Given the description of an element on the screen output the (x, y) to click on. 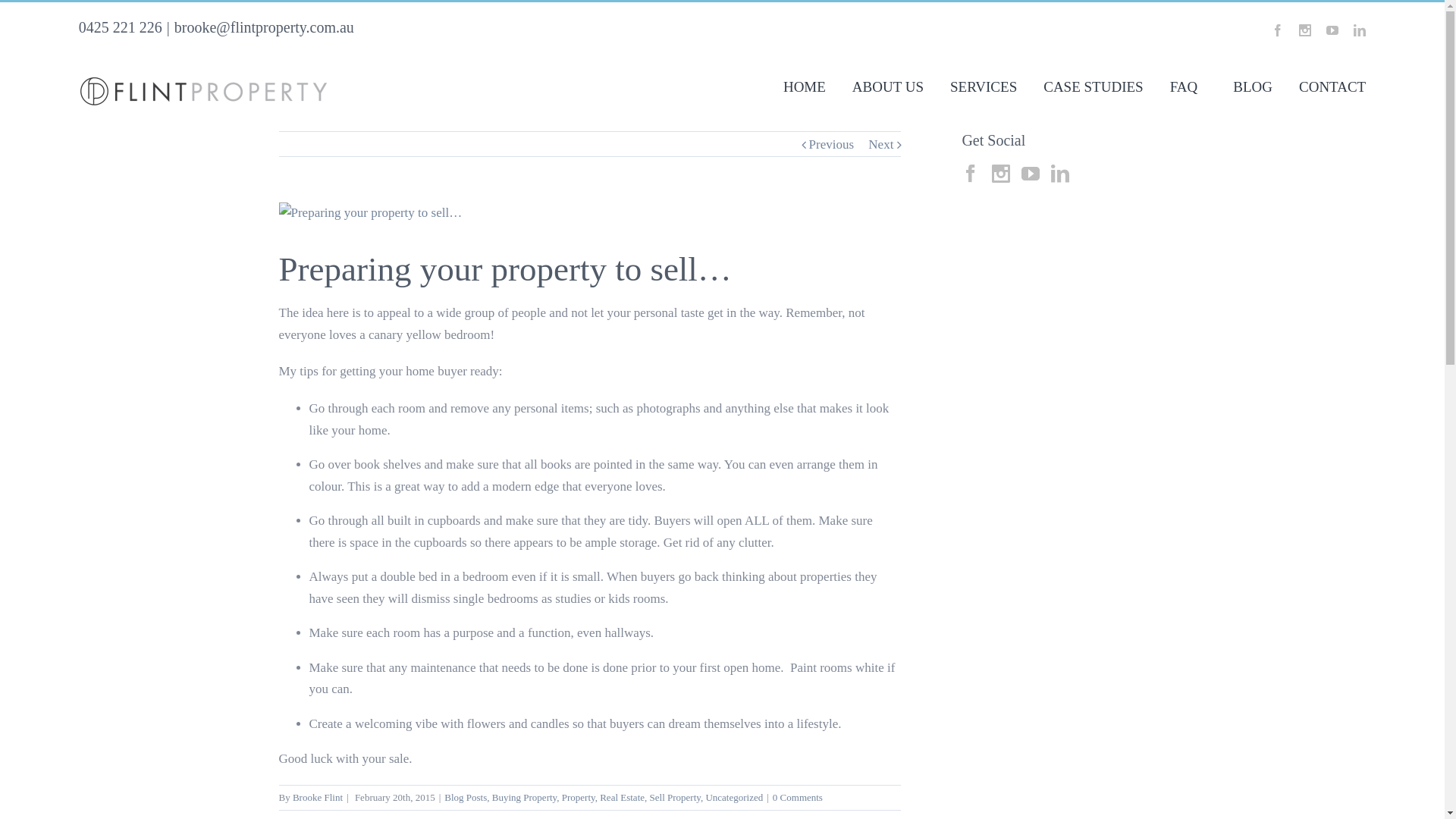
SERVICES Element type: text (983, 85)
brooke@flintproperty.com.au Element type: text (264, 26)
CONTACT Element type: text (1332, 85)
Blog Posts Element type: text (465, 797)
BLOG Element type: text (1247, 85)
Previous Element type: text (831, 144)
FAQ Element type: text (1184, 85)
0 Comments Element type: text (797, 797)
Sell Property Element type: text (674, 797)
Brooke Flint Element type: text (317, 797)
Instagram Element type: text (1305, 30)
Real Estate Element type: text (621, 797)
View Larger Image Element type: text (590, 213)
Linkedin Element type: text (1359, 30)
Uncategorized Element type: text (733, 797)
0425 221 226 Element type: text (120, 26)
Buying Property Element type: text (524, 797)
Next Element type: text (880, 144)
HOME Element type: text (804, 85)
Property Element type: text (578, 797)
ABOUT US Element type: text (887, 85)
Youtube Element type: text (1332, 30)
Facebook Element type: text (1277, 30)
CASE STUDIES Element type: text (1092, 85)
